Given the description of an element on the screen output the (x, y) to click on. 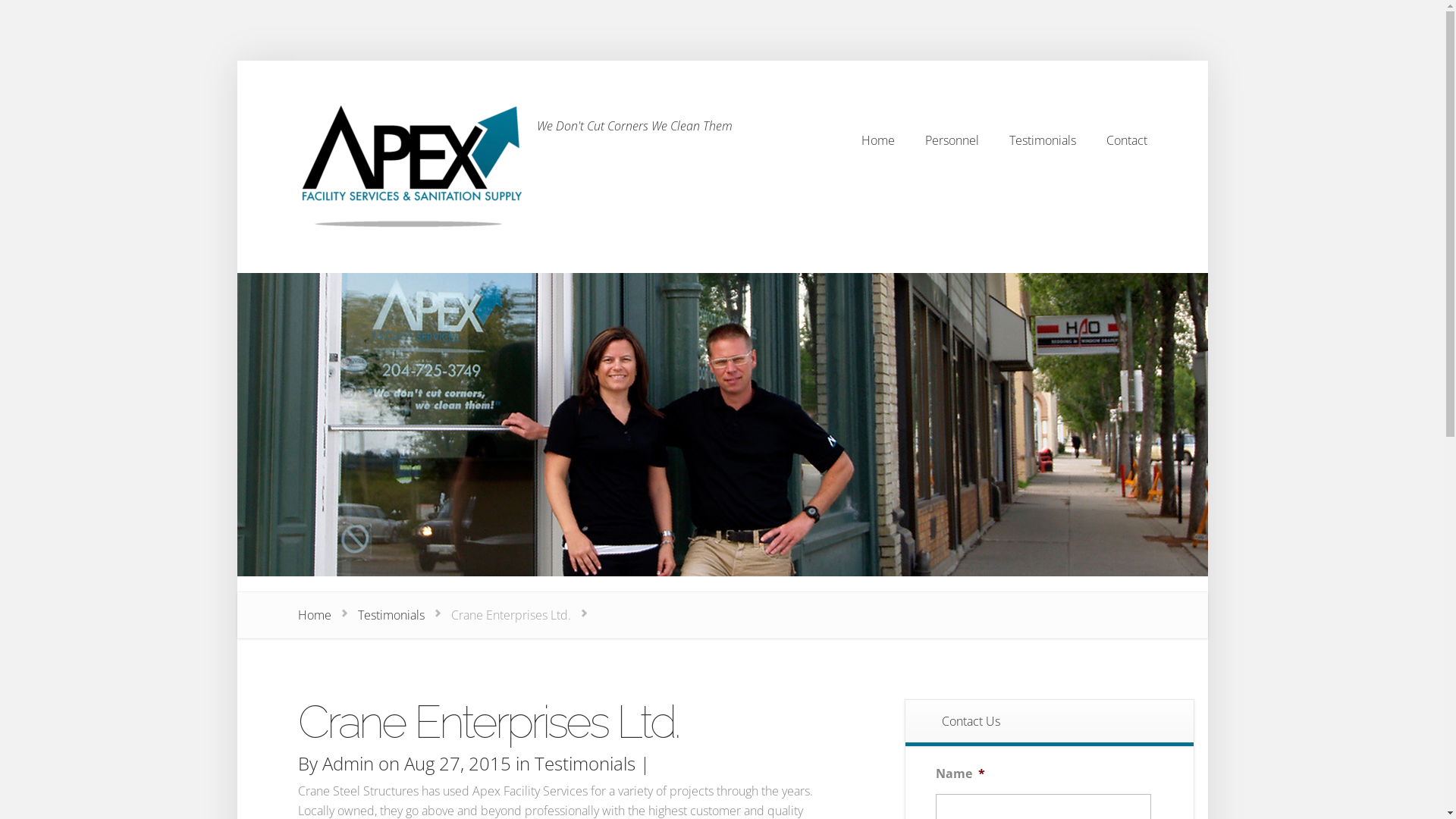
Admin Element type: text (347, 762)
Home Element type: text (313, 614)
Contact Element type: text (1126, 139)
Personnel Element type: text (951, 139)
Testimonials Element type: text (390, 614)
Testimonials Element type: text (1041, 139)
Home Element type: text (877, 139)
Testimonials Element type: text (583, 762)
